Given the description of an element on the screen output the (x, y) to click on. 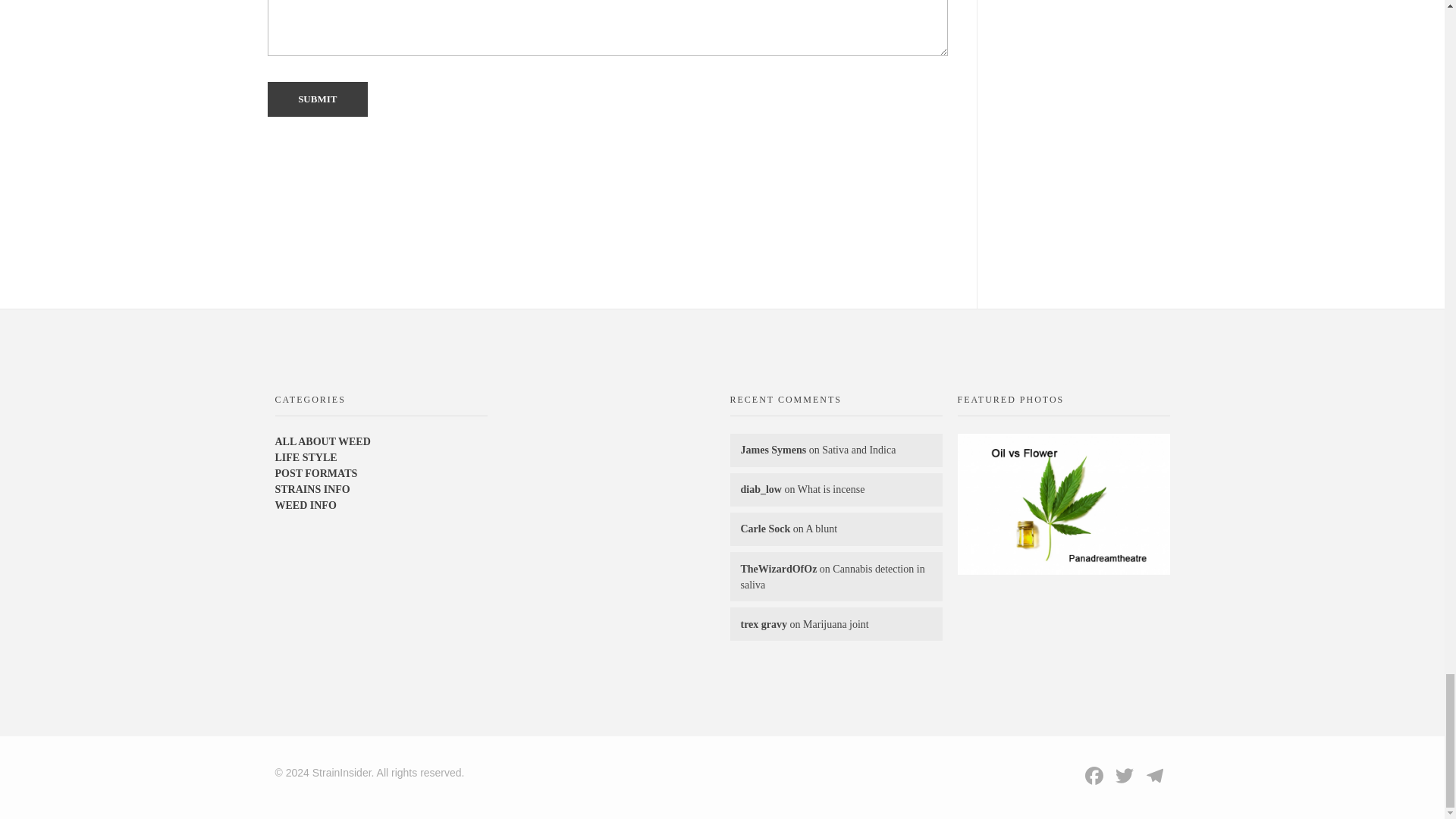
Submit (317, 99)
Submit (317, 99)
